Given the description of an element on the screen output the (x, y) to click on. 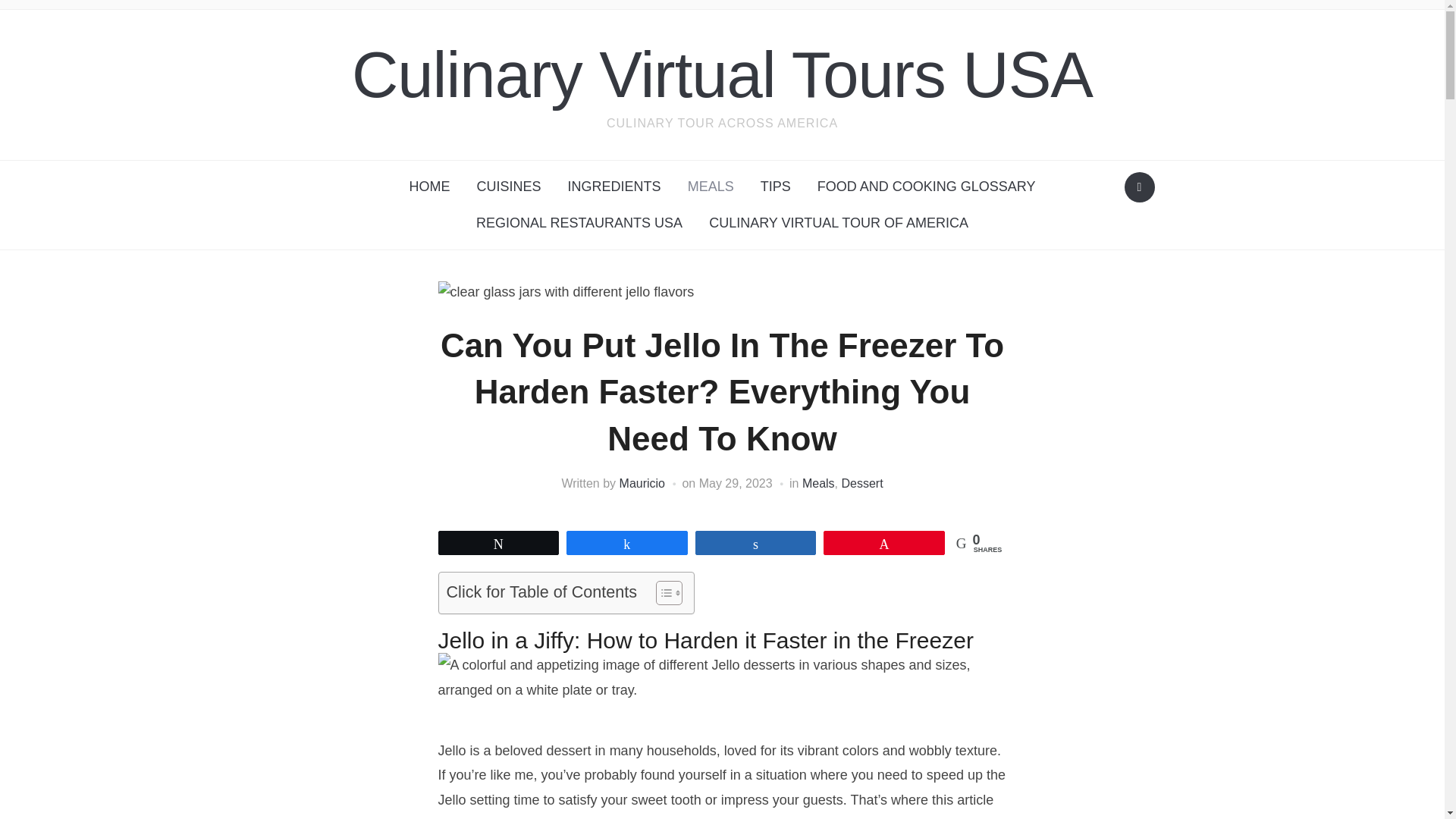
Culinary Virtual Tours USA (722, 74)
Culinary Tour Across America (722, 74)
Posts by Mauricio (642, 482)
Search (1139, 186)
